Given the description of an element on the screen output the (x, y) to click on. 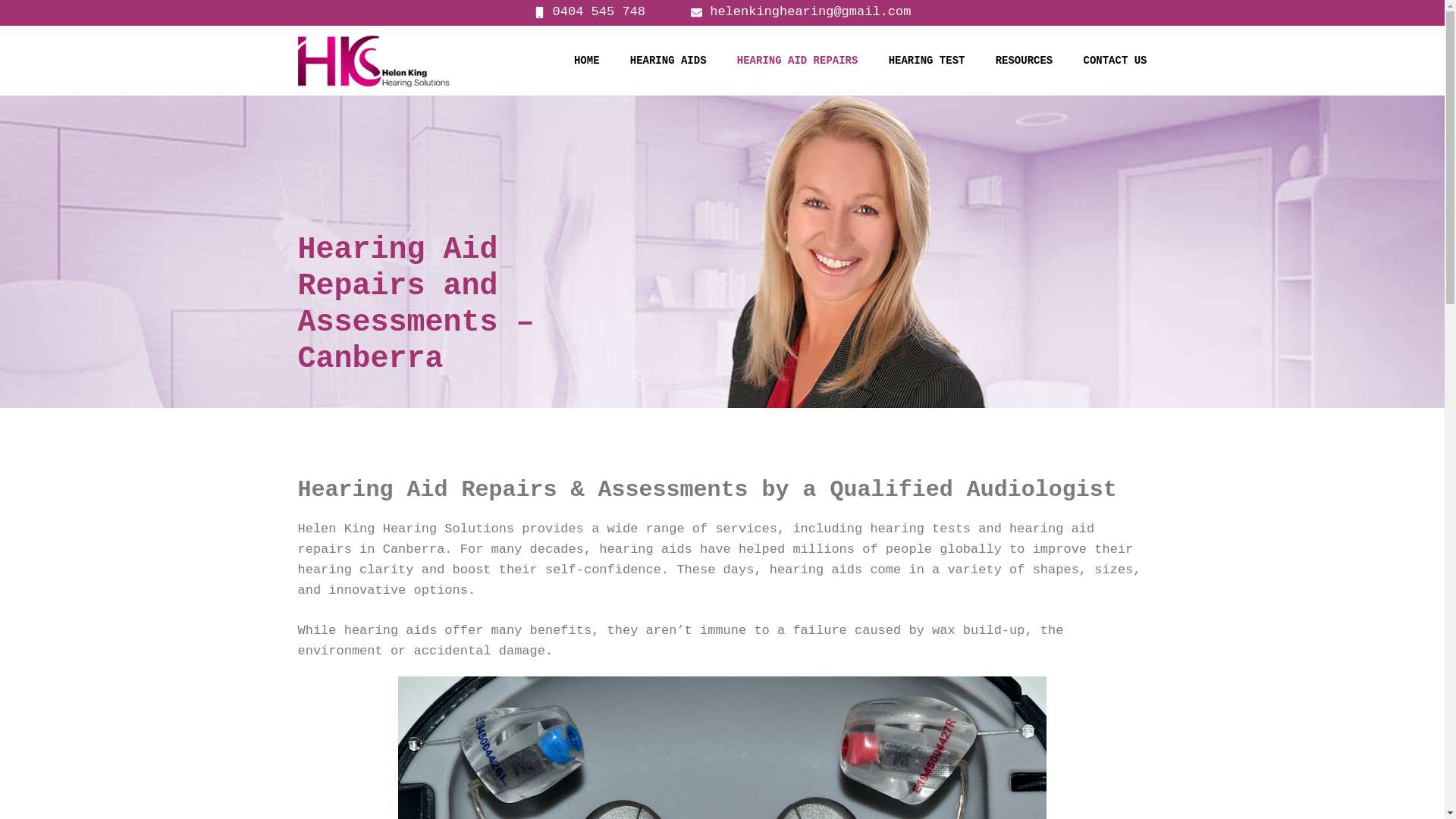
HK Hearing Solutions Element type: hover (372, 60)
HEARING AIDS Element type: text (668, 60)
HOME Element type: text (586, 60)
RESOURCES Element type: text (1024, 60)
HEARING TEST Element type: text (926, 60)
CONTACT US Element type: text (1114, 60)
HEARING AID REPAIRS Element type: text (797, 60)
0404 545 748 Element type: text (589, 11)
helenkinghearing@gmail.com Element type: text (800, 11)
HK Hearing Solutions Element type: hover (372, 60)
